Given the description of an element on the screen output the (x, y) to click on. 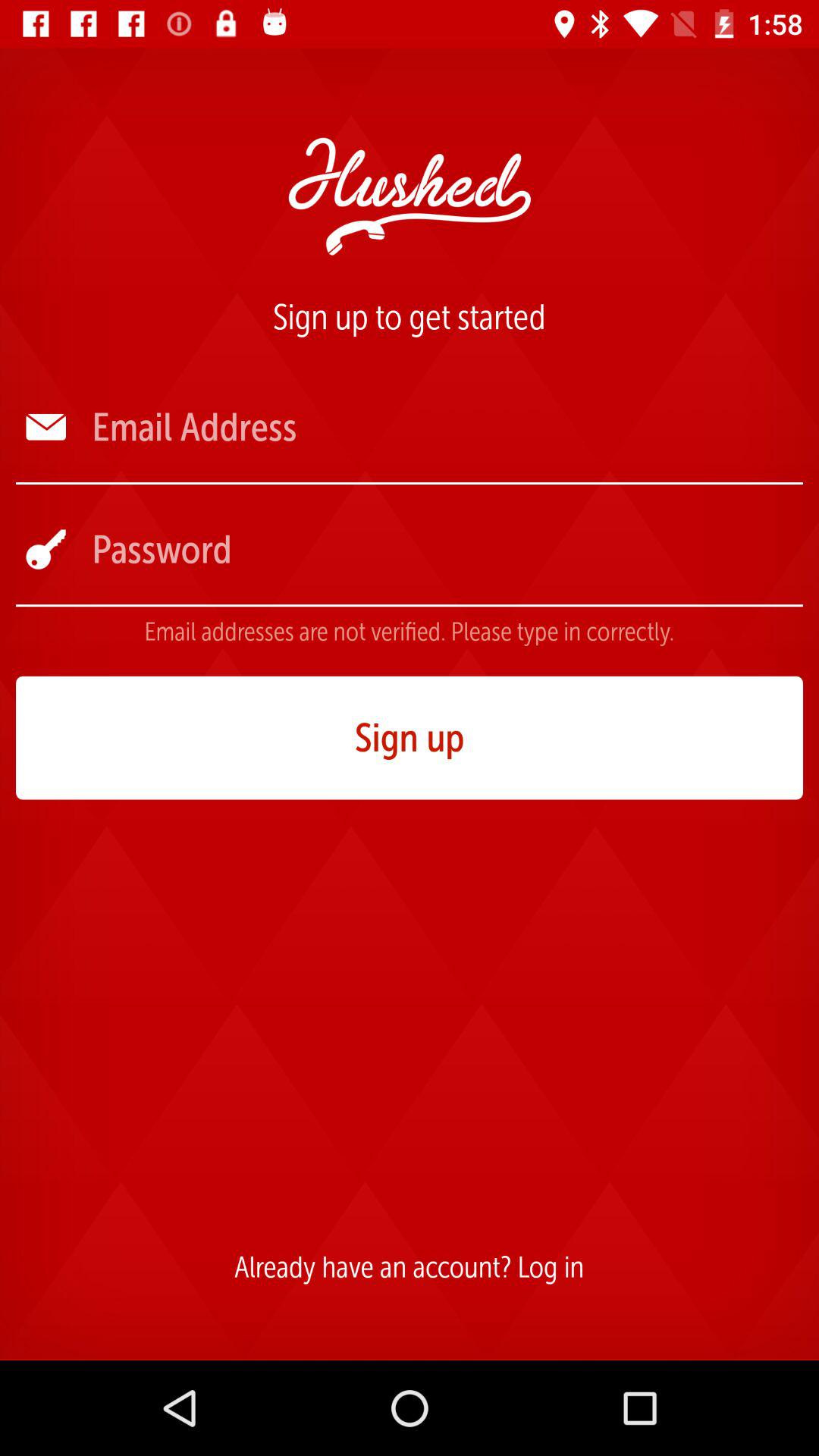
enter password (446, 549)
